Given the description of an element on the screen output the (x, y) to click on. 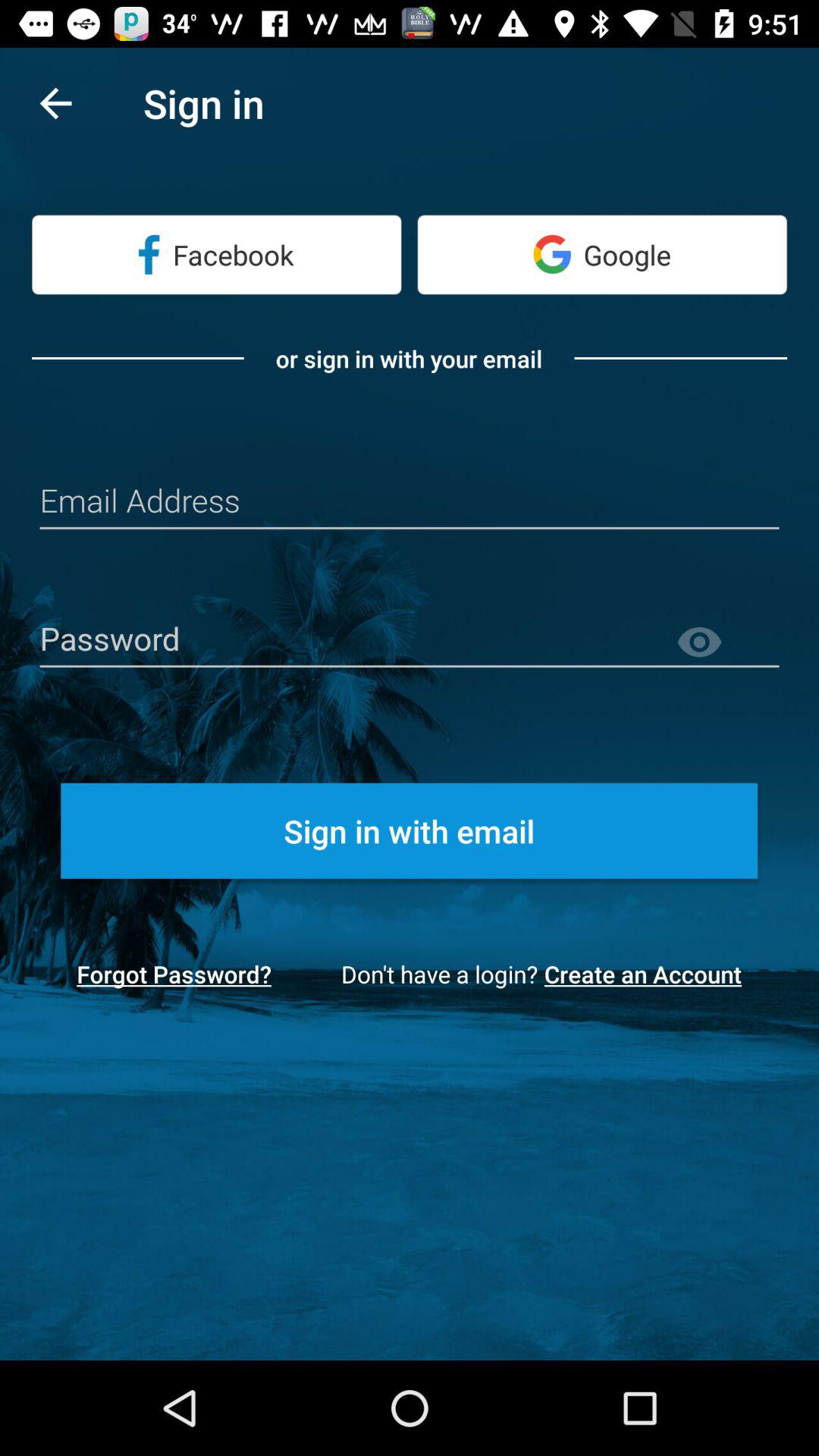
launch icon next to don t have (173, 974)
